Given the description of an element on the screen output the (x, y) to click on. 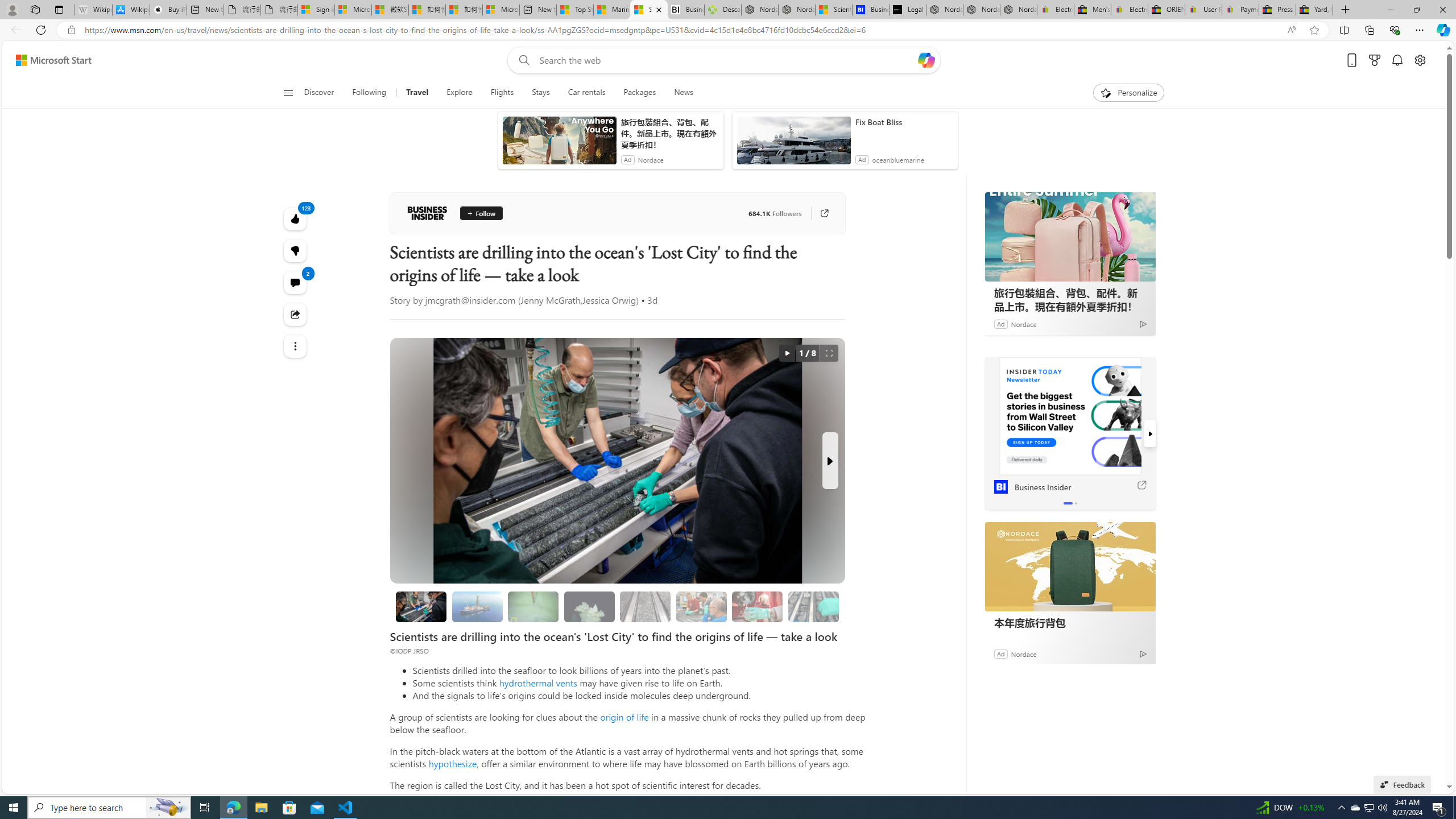
Open navigation menu (287, 92)
Flights (501, 92)
Travel (417, 92)
Packages (639, 92)
Microsoft account | Account Checkup (500, 9)
Explore (458, 92)
